Given the description of an element on the screen output the (x, y) to click on. 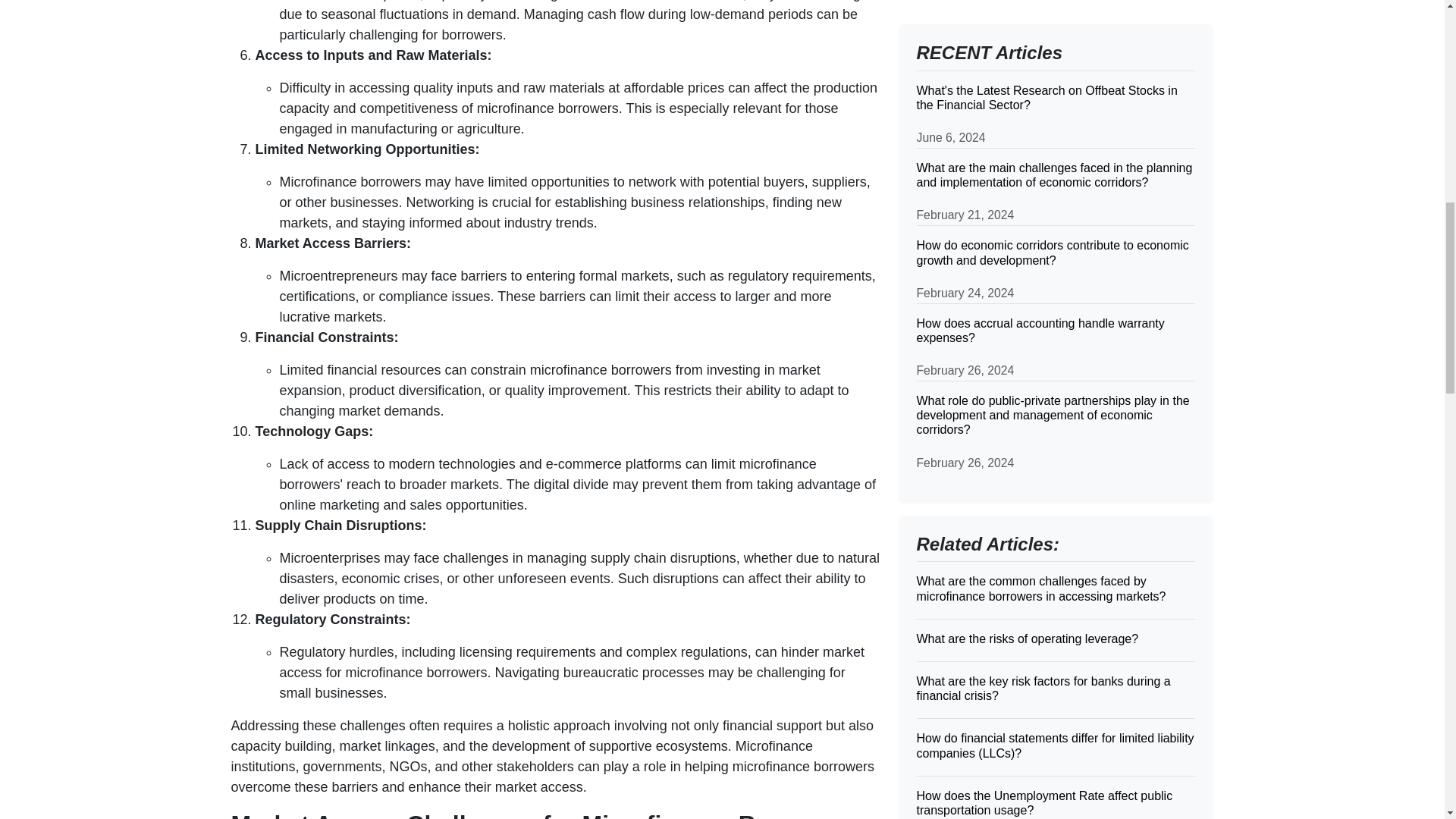
Nov,2023 (944, 232)
Aug,2023 (944, 294)
Oct,2023 (943, 253)
Jul,2023 (941, 314)
Jan,2024 (943, 191)
Feb,2024 (944, 171)
Dec,2023 (944, 212)
Sep,2023 (944, 273)
